Given the description of an element on the screen output the (x, y) to click on. 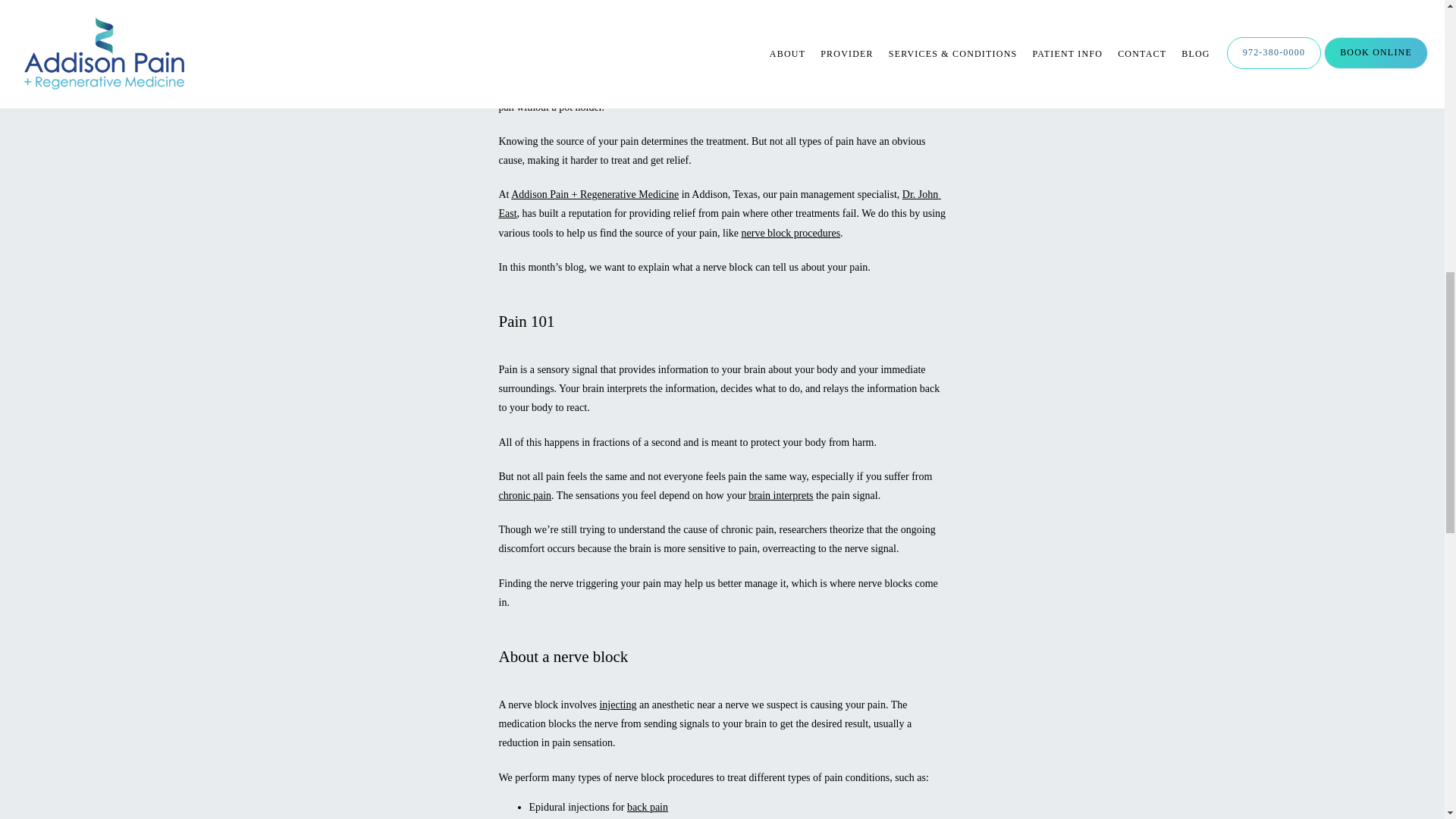
back pain (647, 807)
brain interprets (780, 495)
injecting (617, 704)
Dr. John East (719, 204)
chronic pain (525, 495)
nerve block procedures (791, 233)
